Given the description of an element on the screen output the (x, y) to click on. 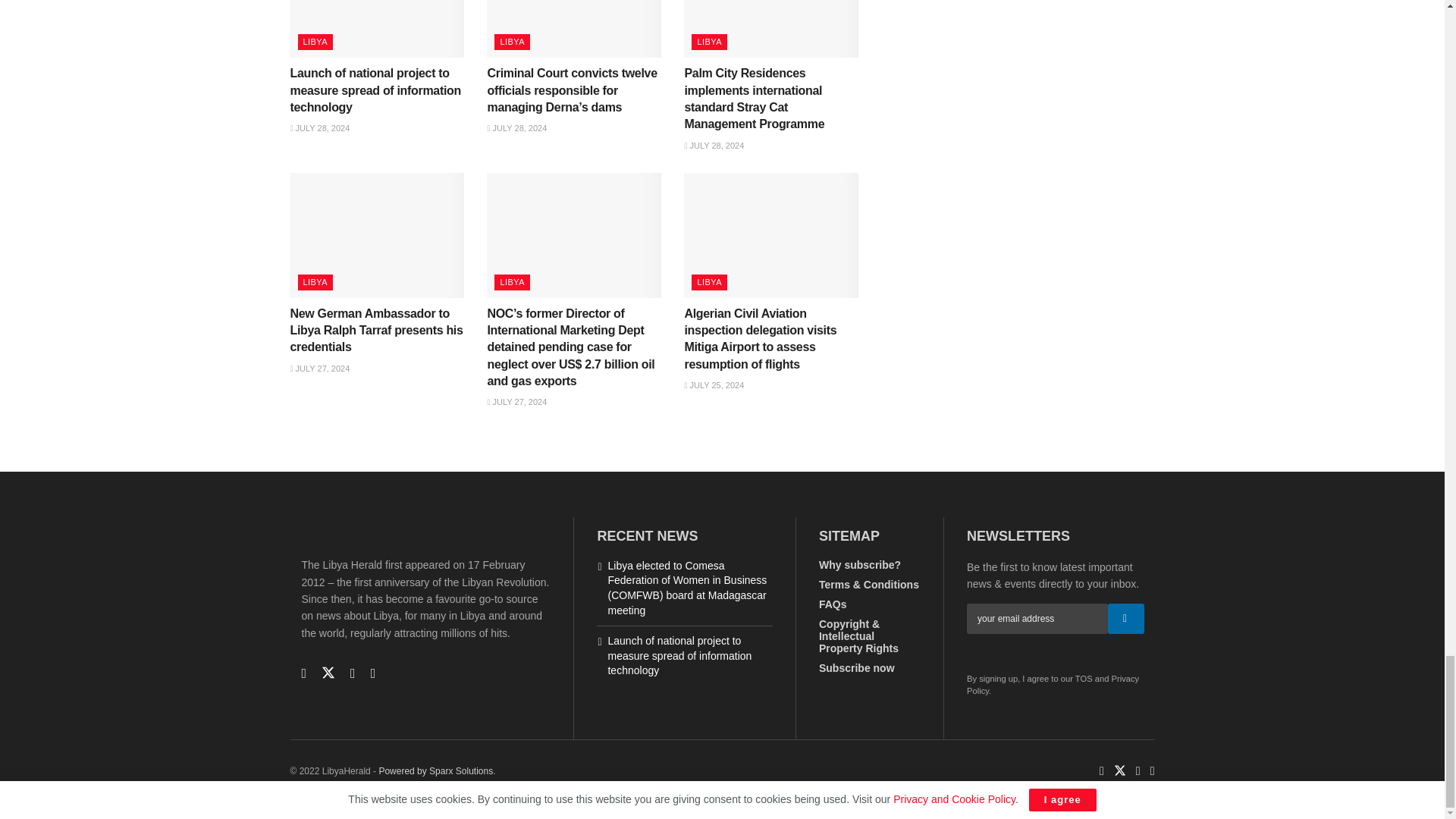
Sparx Solutions (435, 770)
